Given the description of an element on the screen output the (x, y) to click on. 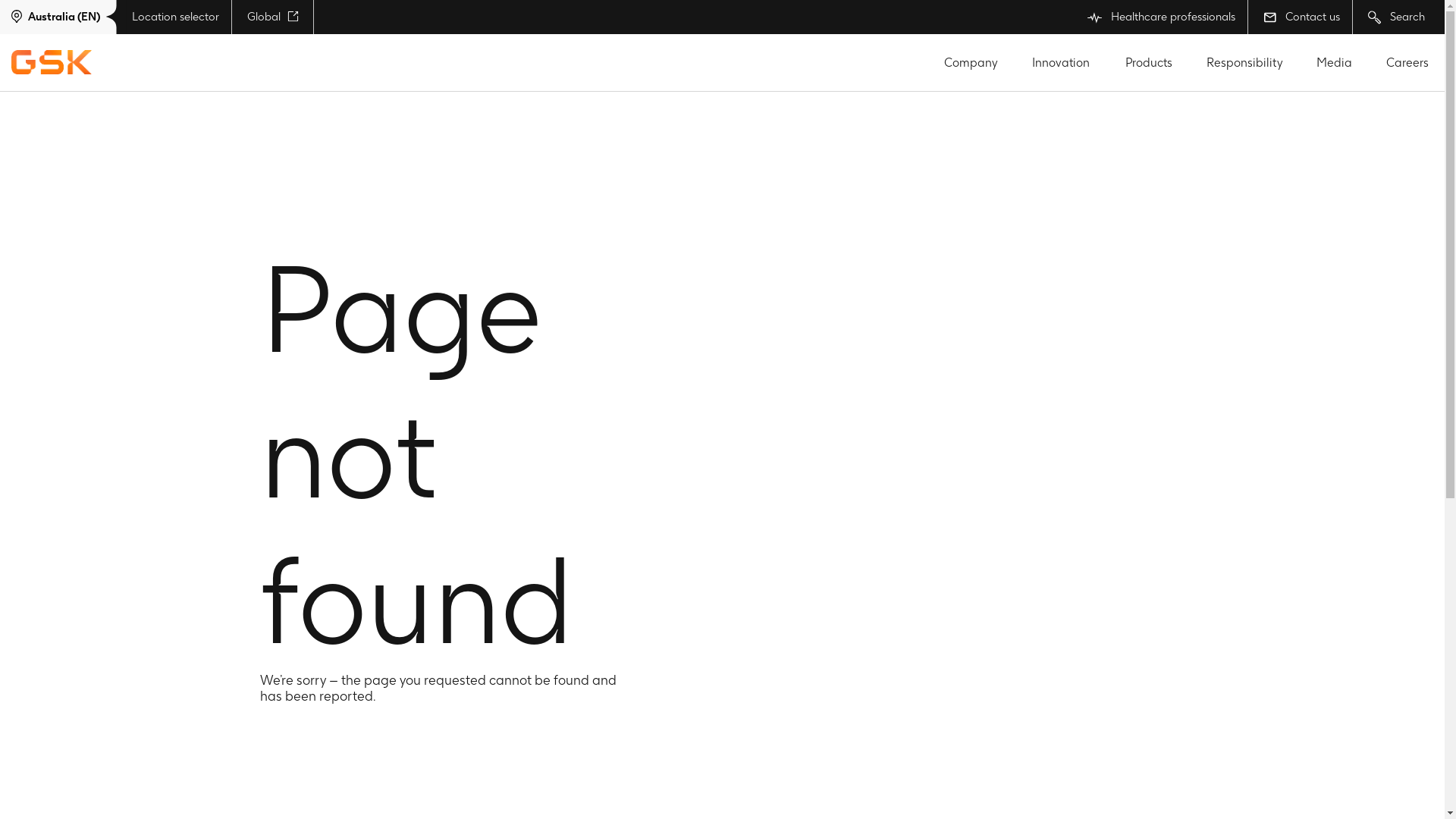
Company Element type: text (970, 62)
Media Element type: text (1334, 62)
Products Element type: text (1148, 62)
Healthcare professionals Healthcare professionals Element type: text (1159, 17)
Innovation Element type: text (1060, 62)
Search Element type: text (1394, 17)
Contact us Contact us Element type: text (1299, 17)
Responsibility Element type: text (1244, 62)
Global Element type: text (272, 17)
Careers Element type: text (1407, 62)
Location selector Element type: text (174, 17)
